Given the description of an element on the screen output the (x, y) to click on. 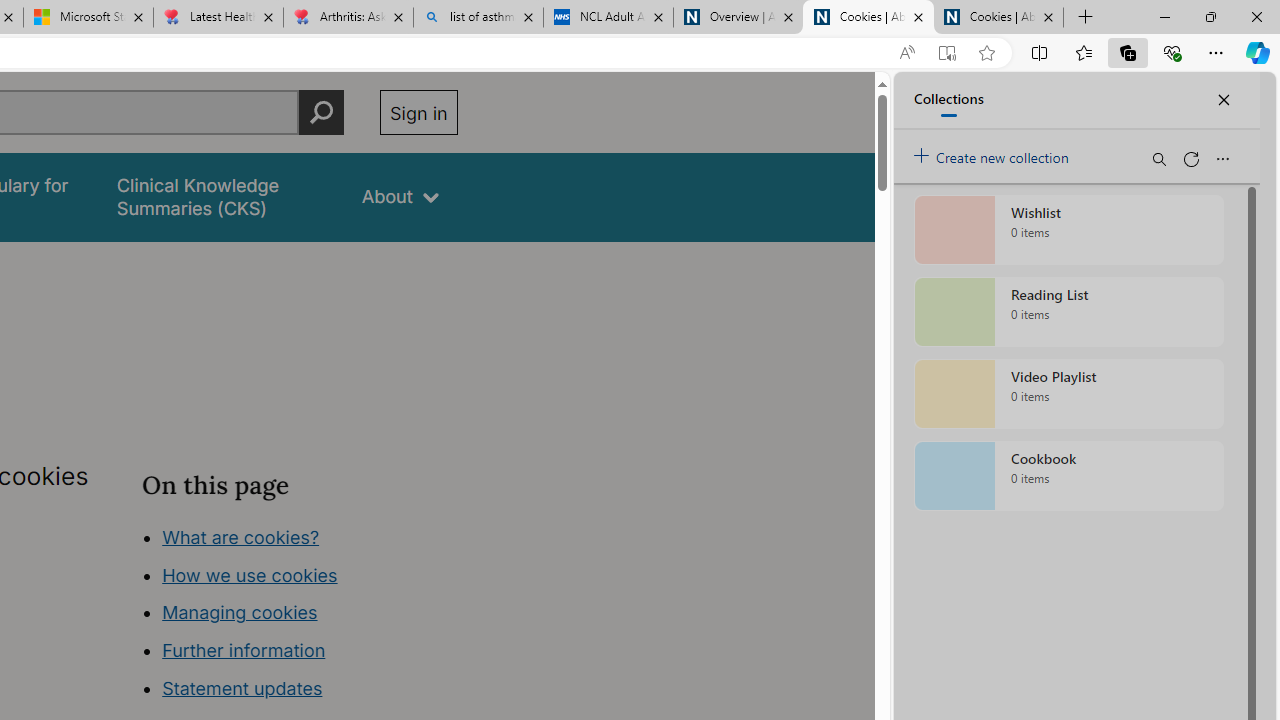
Cookies | About | NICE (998, 17)
Statement updates (242, 688)
Perform search (321, 112)
Managing cookies (239, 612)
